Given the description of an element on the screen output the (x, y) to click on. 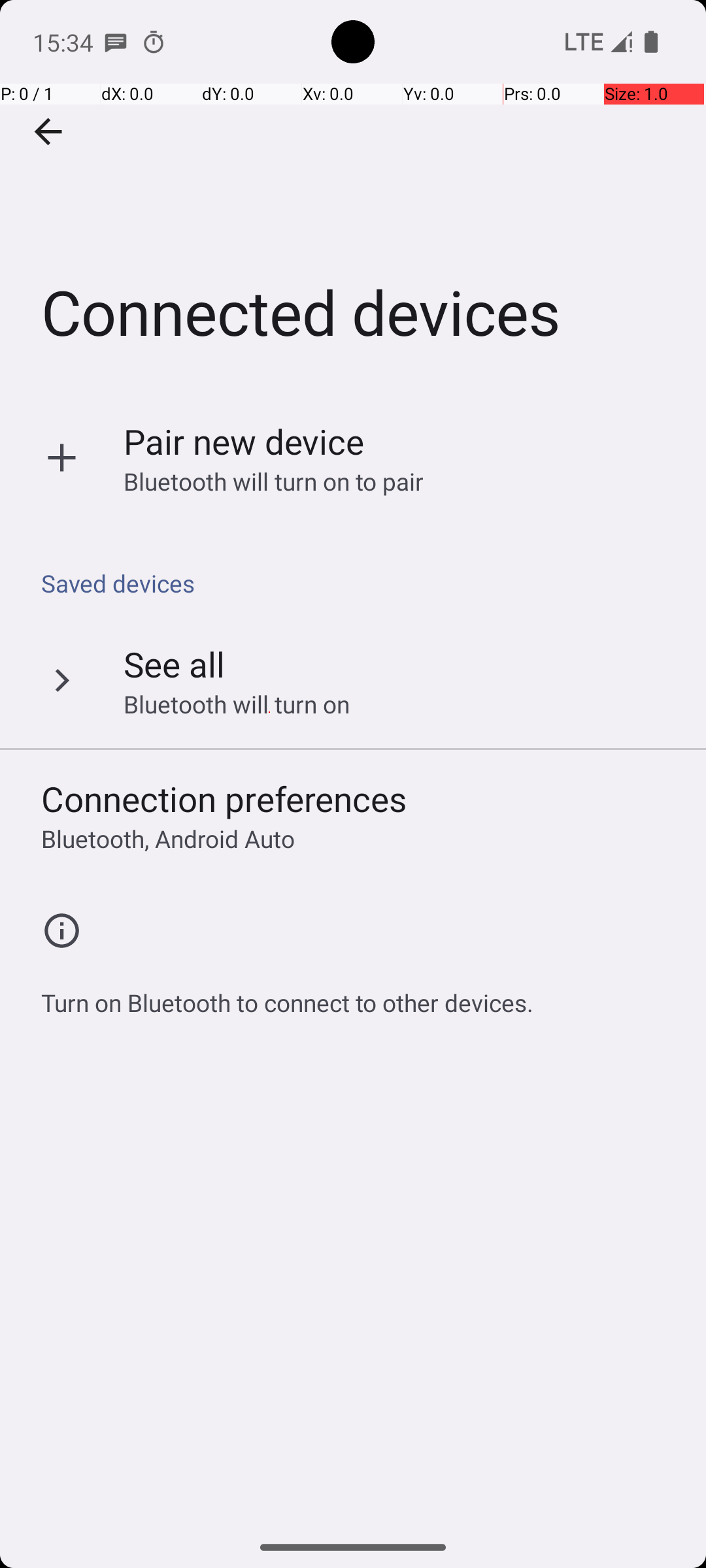
Bluetooth will turn on to pair Element type: android.widget.TextView (273, 480)
See all Element type: android.widget.TextView (173, 663)
Bluetooth will turn on Element type: android.widget.TextView (236, 703)
Bluetooth, Android Auto Element type: android.widget.TextView (167, 838)
Turn on Bluetooth to connect to other devices. Element type: android.widget.TextView (287, 995)
